Given the description of an element on the screen output the (x, y) to click on. 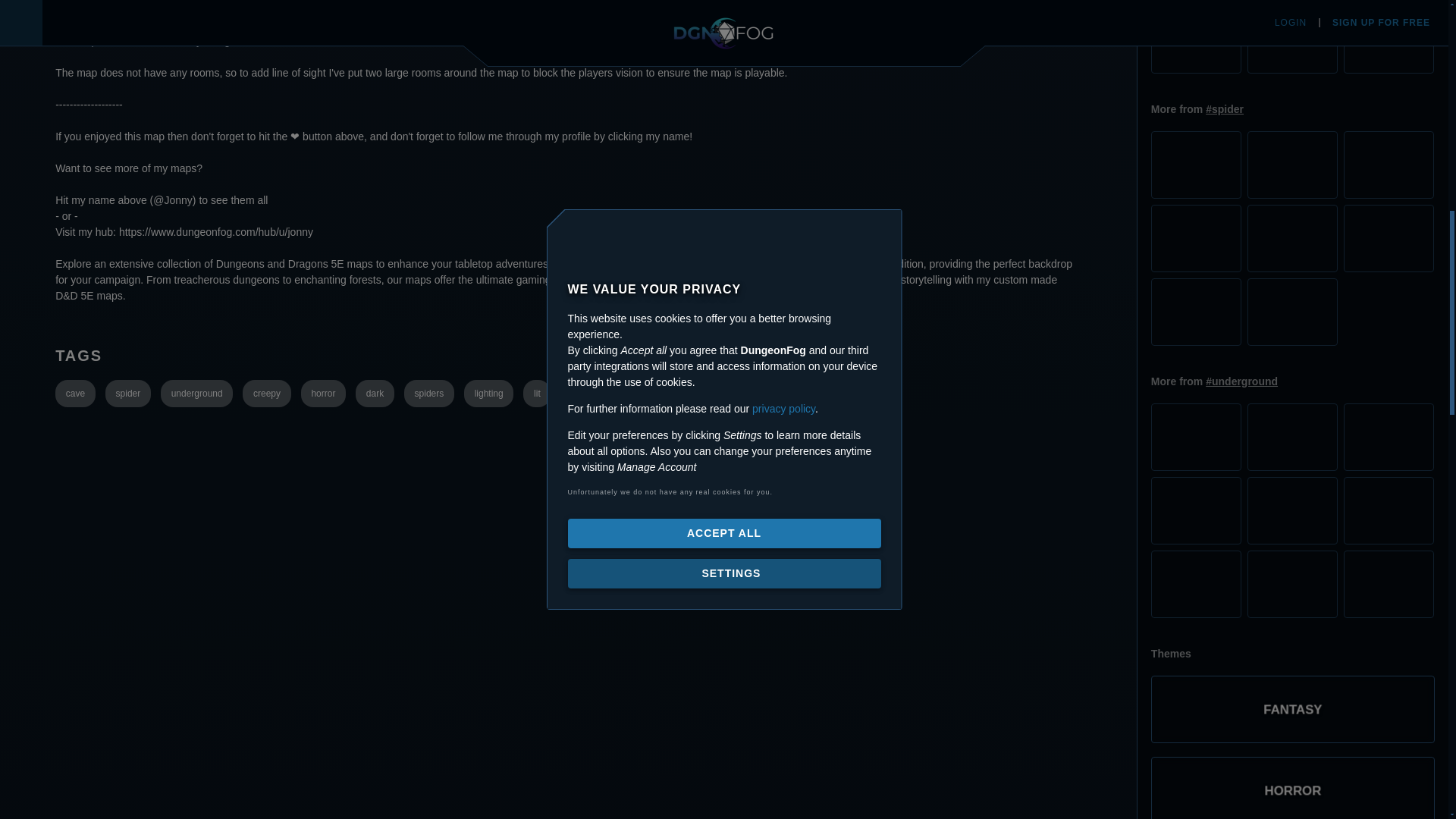
creepy (266, 393)
lighting (488, 393)
lit (536, 393)
horror (323, 393)
spider (127, 393)
Horror (1292, 762)
dark (374, 393)
Fantasy (1292, 680)
underground (196, 393)
cave (75, 393)
